Given the description of an element on the screen output the (x, y) to click on. 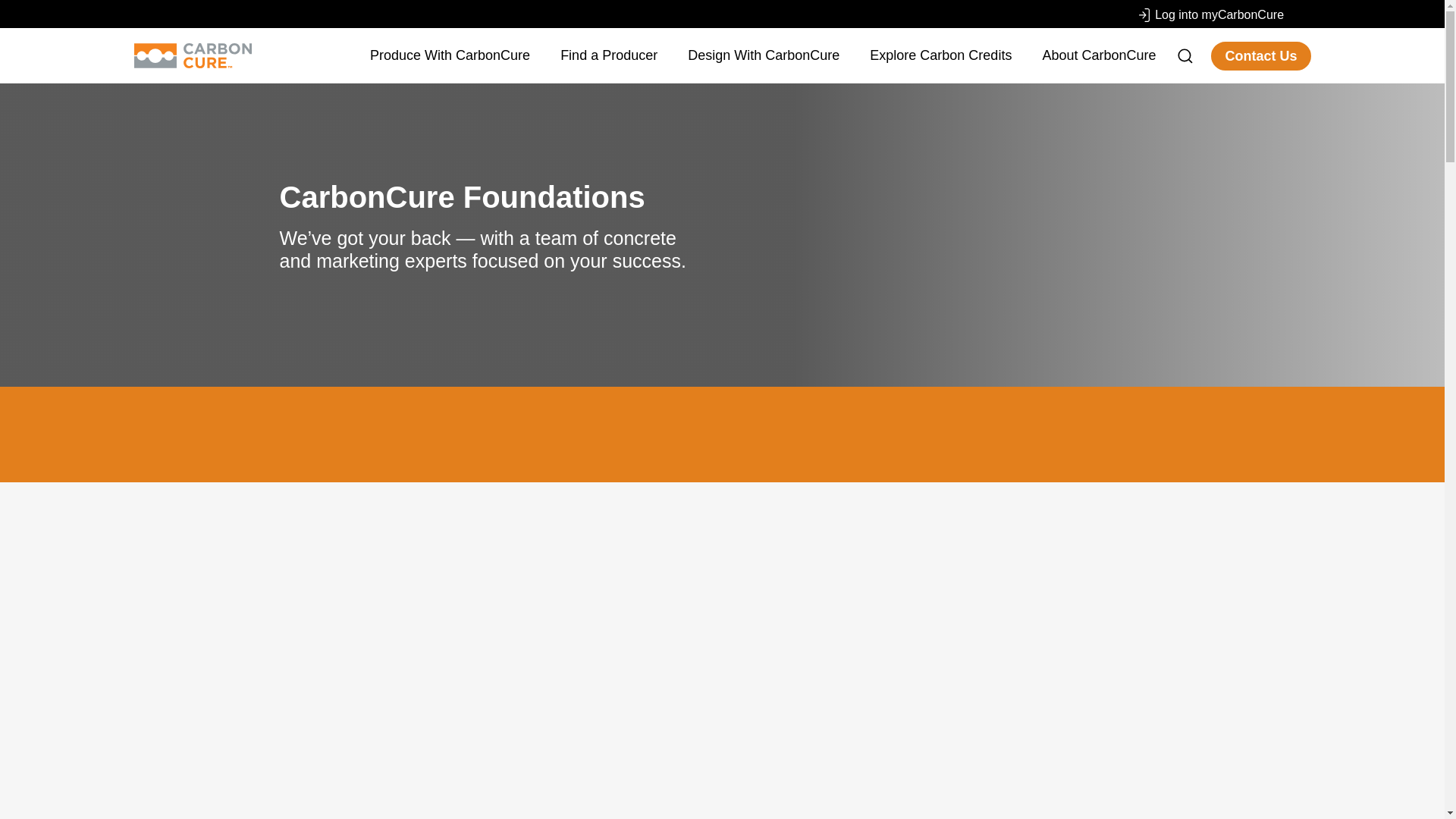
Log into myCarbonCure (1211, 15)
Design With CarbonCure (763, 55)
Log into myCarbonCure (1211, 15)
About CarbonCure (1099, 55)
Explore Carbon Credits (940, 55)
Contact Us (1260, 54)
Produce With CarbonCure (449, 55)
Find a Producer (609, 55)
Design With CarbonCure (763, 55)
English (1299, 12)
Produce With CarbonCure (449, 55)
Find a Producer (609, 55)
